Given the description of an element on the screen output the (x, y) to click on. 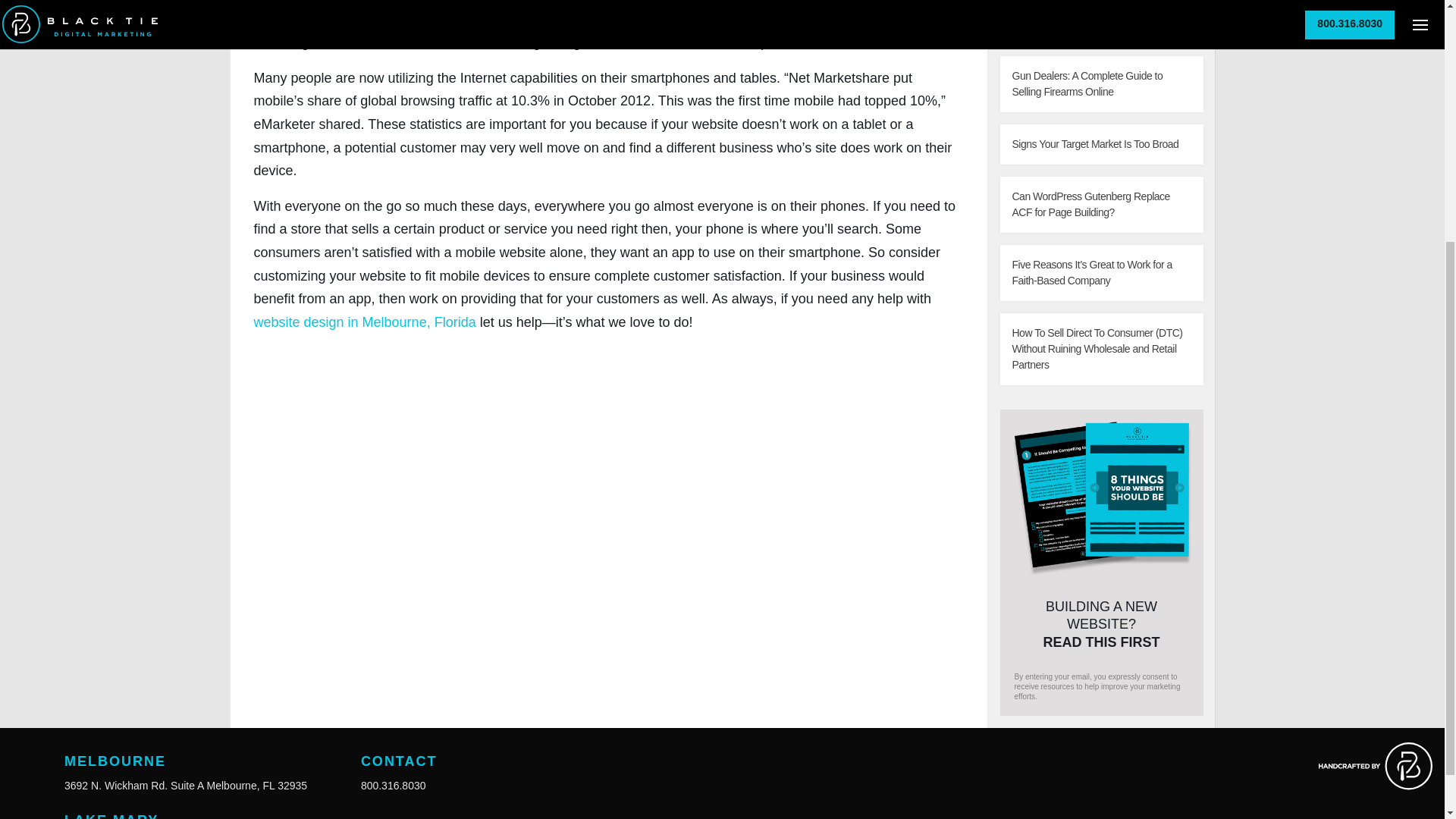
Search for: (1084, 2)
Gun Dealers: A Complete Guide to Selling Firearms Online (1100, 84)
website design in Melbourne, Florida (364, 322)
3692 N. Wickham Rd. Suite A Melbourne, FL 32935 (185, 785)
800.316.8030 (393, 785)
Can WordPress Gutenberg Replace ACF for Page Building? (1100, 204)
eMarketer (616, 19)
Signs Your Target Market Is Too Broad (1100, 144)
Black Tie Digital Marketing (387, 2)
